Given the description of an element on the screen output the (x, y) to click on. 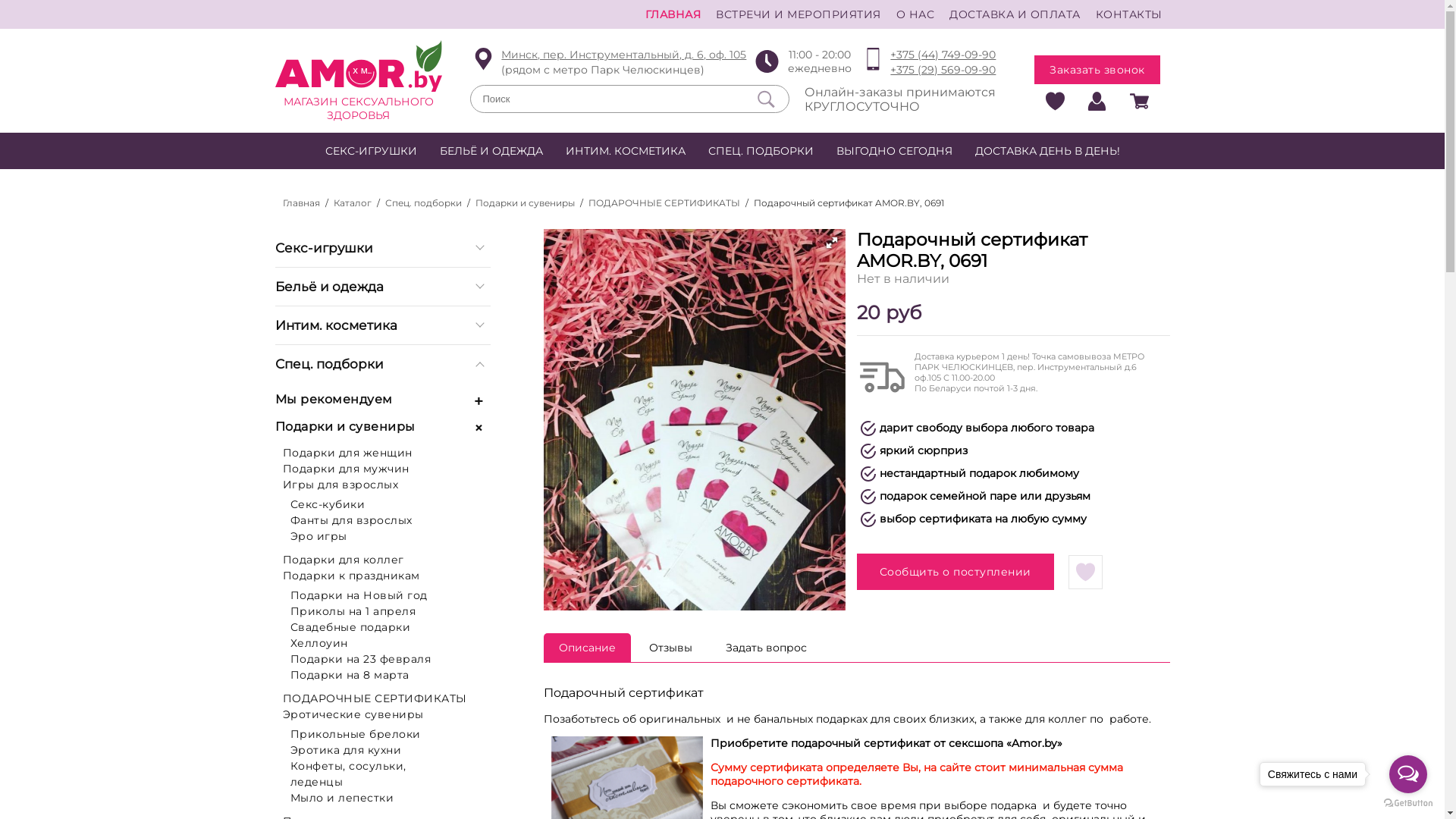
+375 (44) 749-09-90 Element type: text (942, 54)
+375 (29) 569-09-90 Element type: text (942, 70)
